Given the description of an element on the screen output the (x, y) to click on. 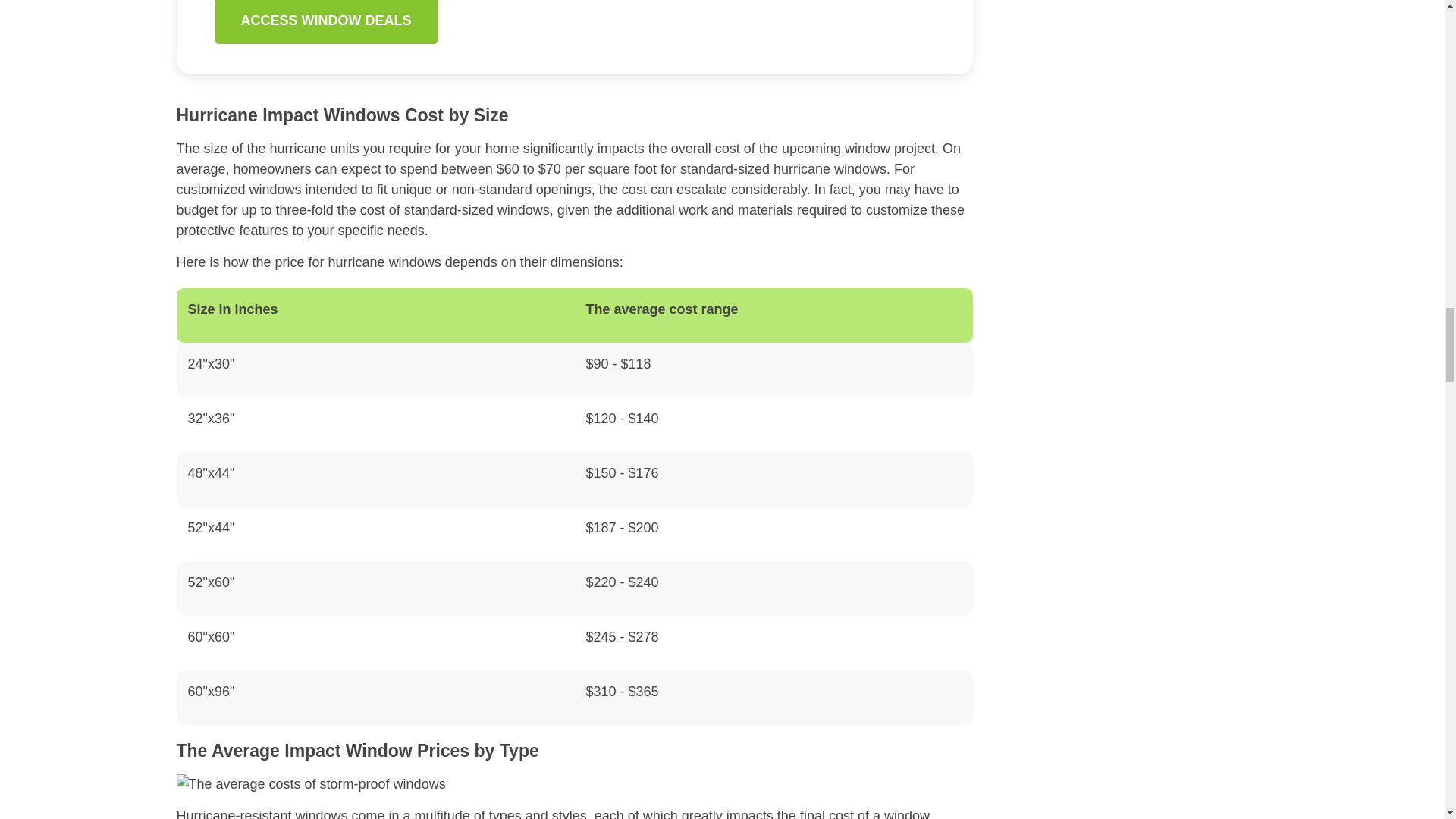
ACCESS WINDOW DEALS (326, 22)
